Given the description of an element on the screen output the (x, y) to click on. 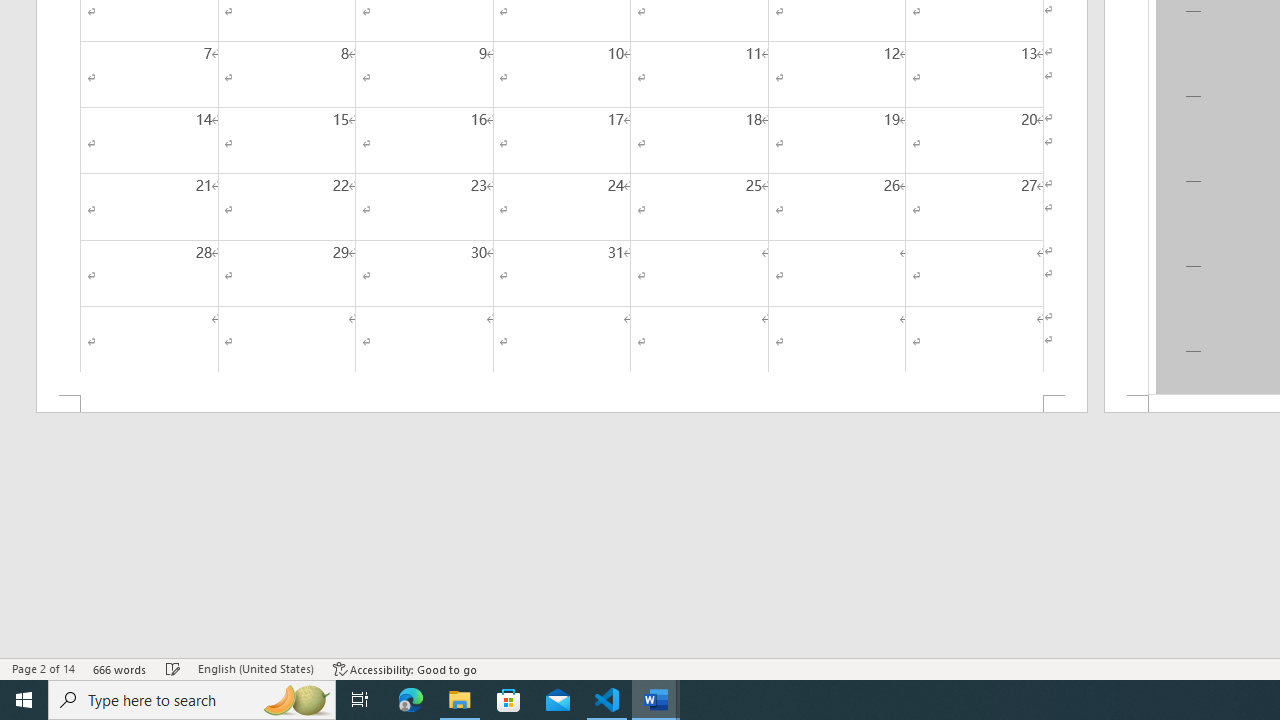
Page Number Page 2 of 14 (43, 668)
